Given the description of an element on the screen output the (x, y) to click on. 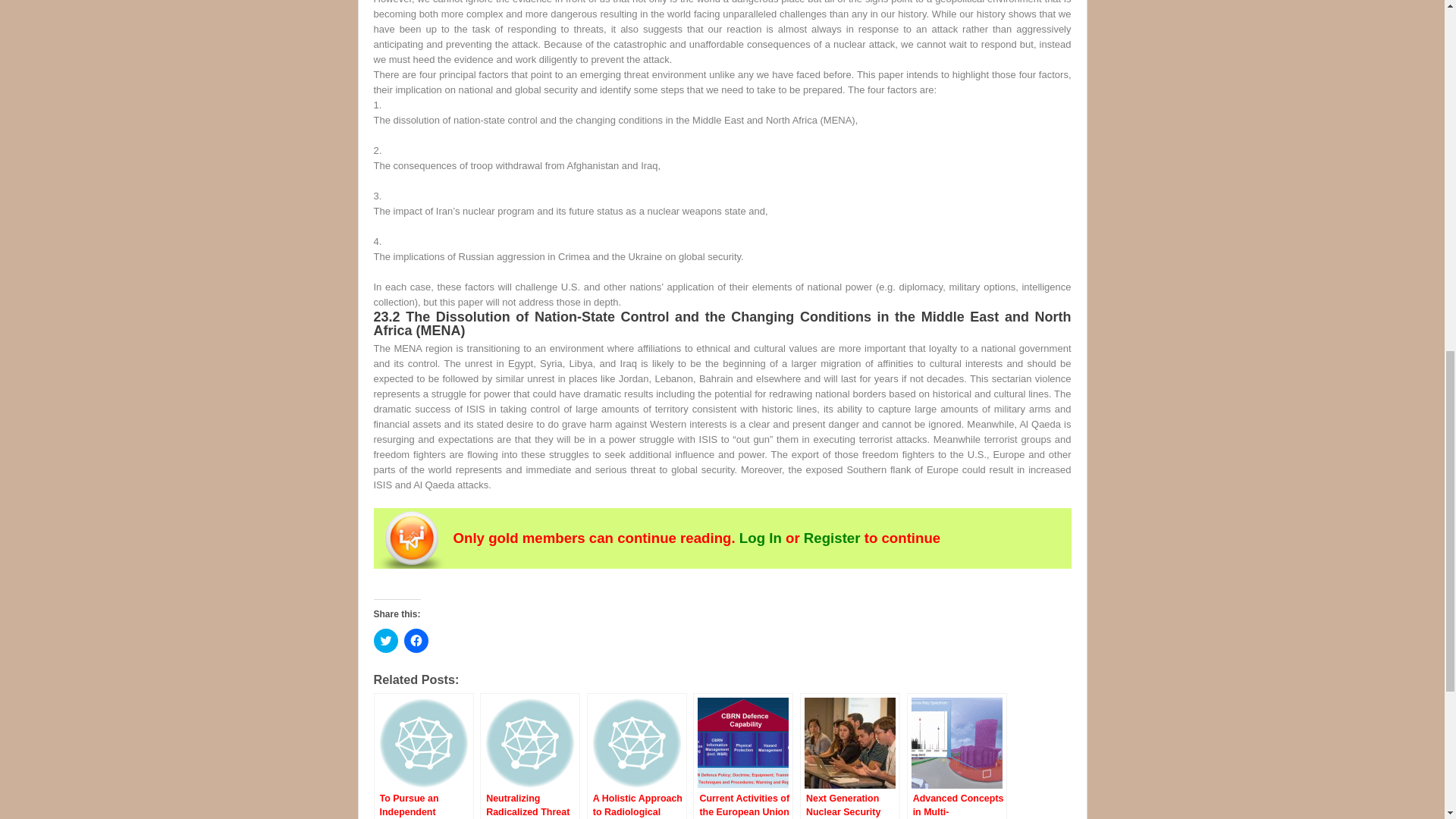
Click to share on Facebook (415, 640)
Click to share on Twitter (384, 640)
